Given the description of an element on the screen output the (x, y) to click on. 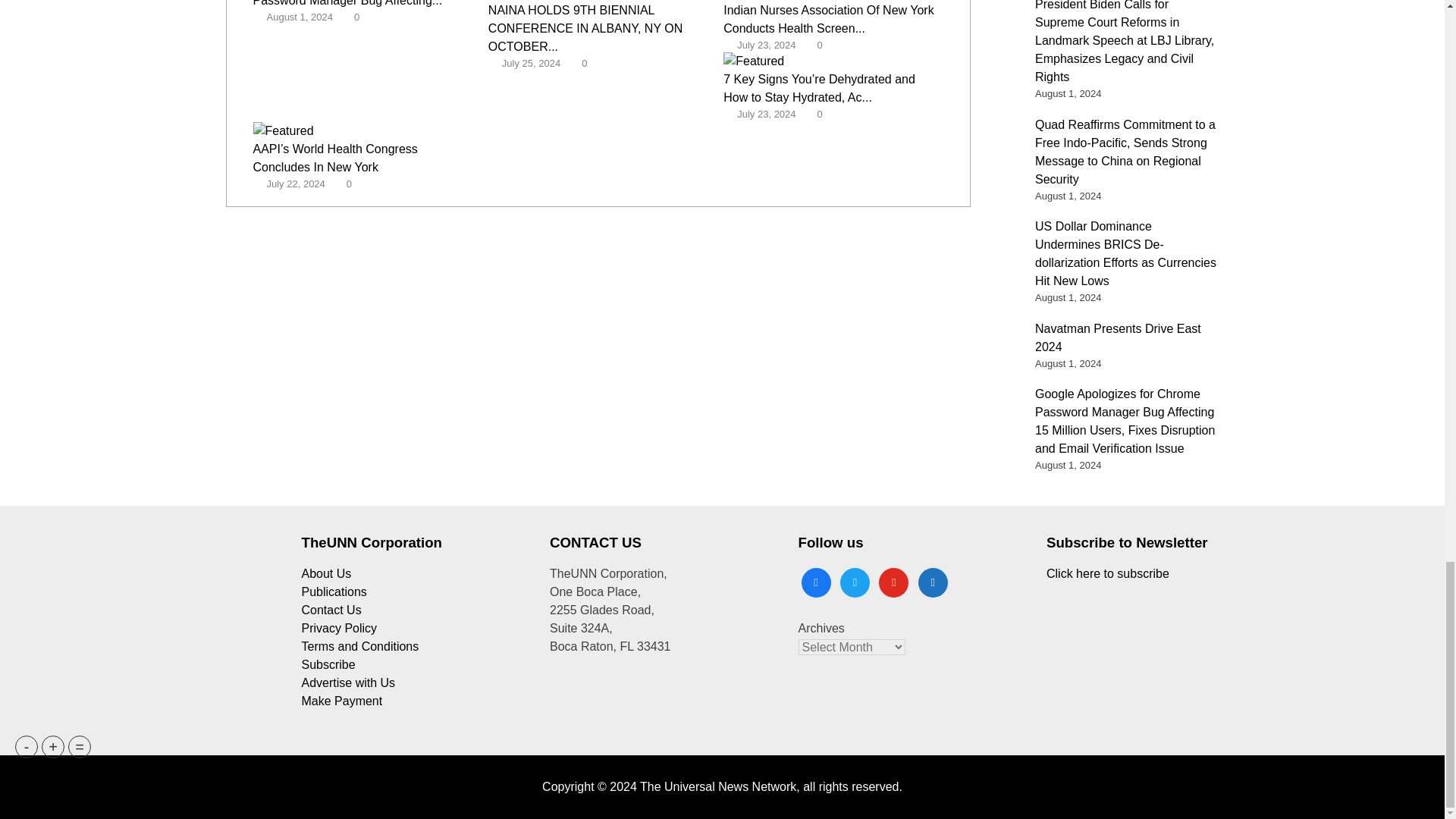
Default Label (893, 581)
Default Label (932, 581)
Twitter (854, 581)
Facebook (814, 581)
